Given the description of an element on the screen output the (x, y) to click on. 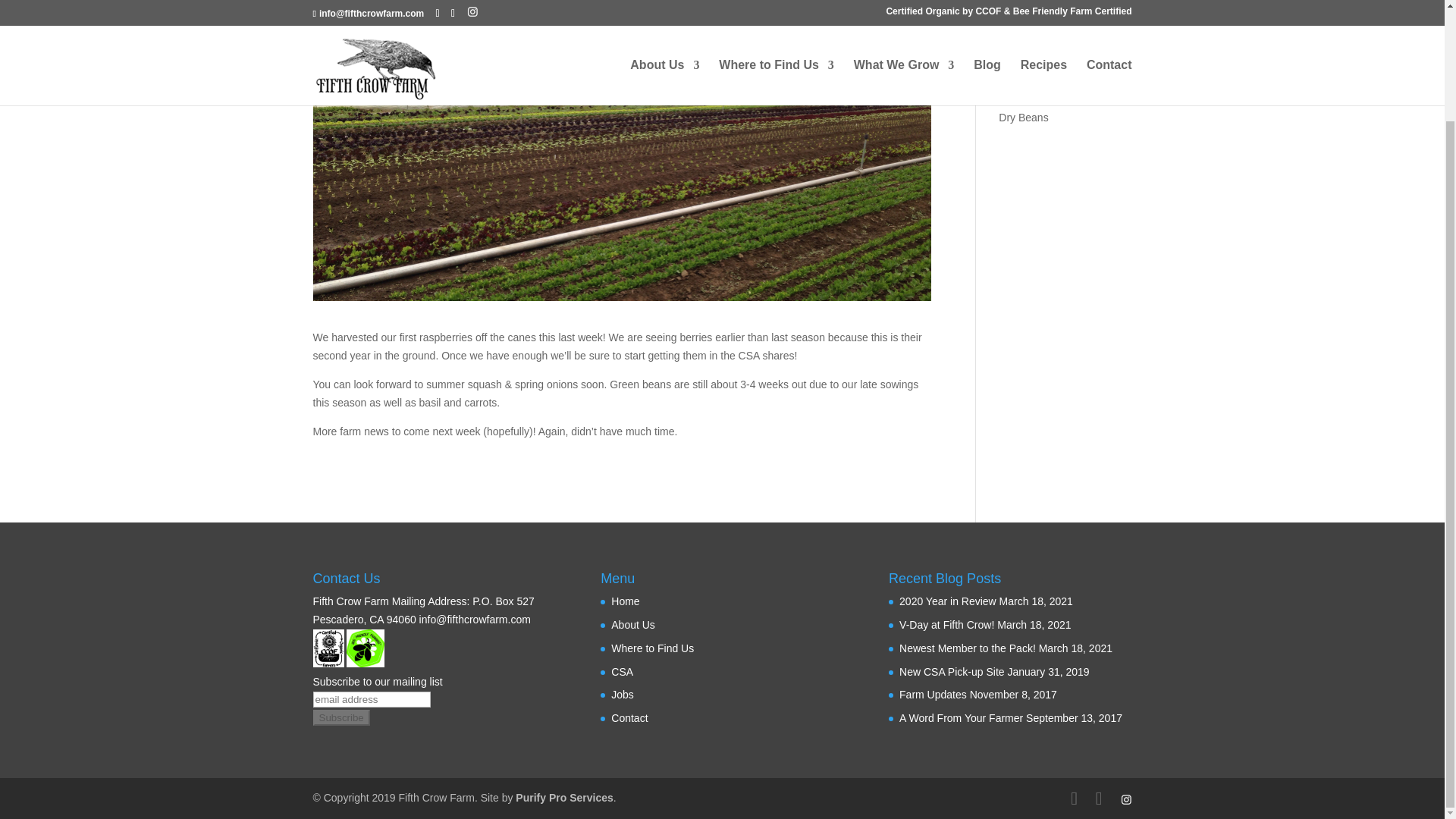
Posts by fifthcrow (346, 56)
Bee Friendly Farming (365, 648)
Subscribe (341, 717)
